Given the description of an element on the screen output the (x, y) to click on. 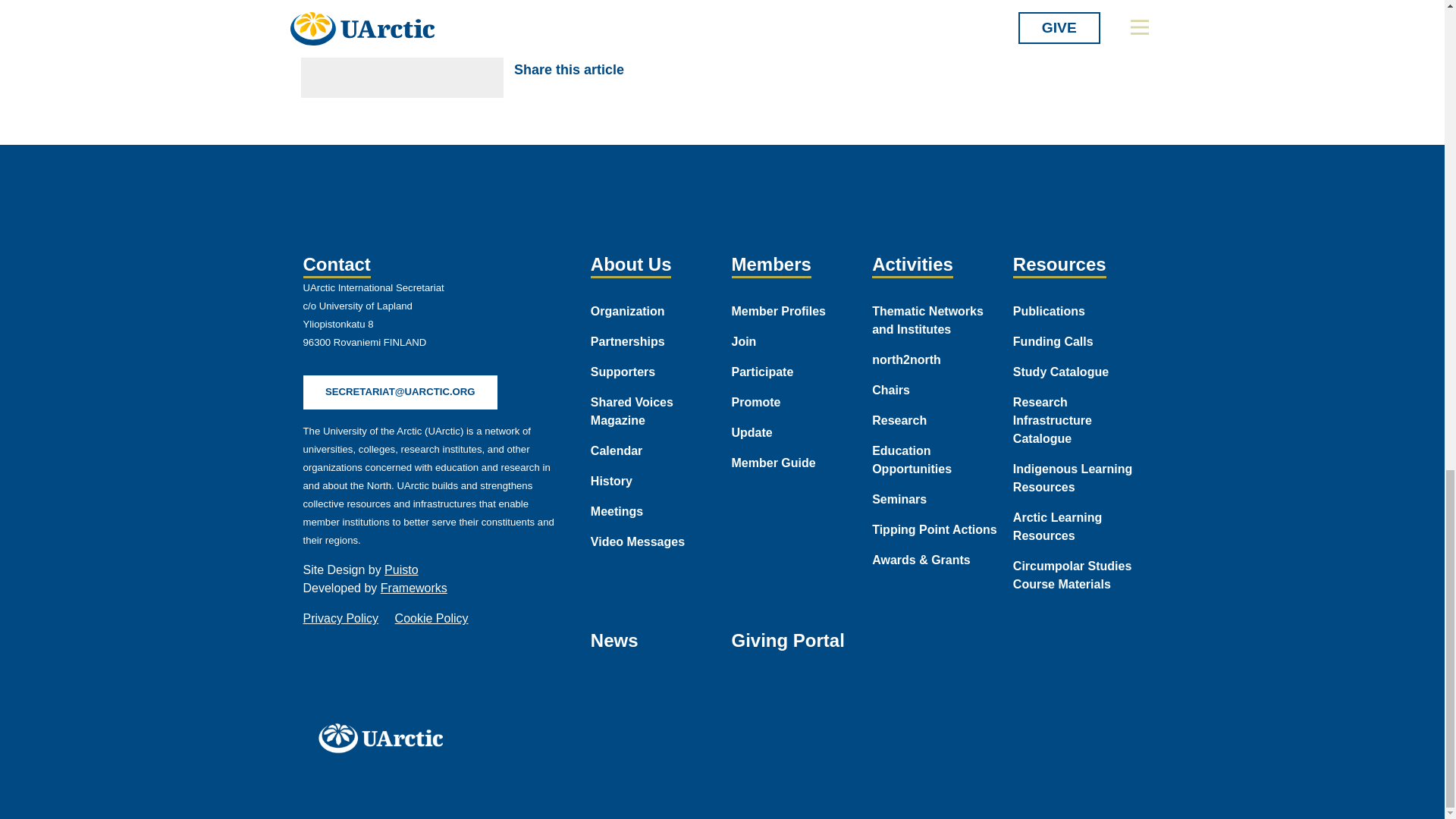
Privacy Policy (340, 617)
Share on Facebook (650, 69)
UArctic 2021 (385, 737)
Cookie Policy (431, 617)
Share on Twitter (686, 69)
